Given the description of an element on the screen output the (x, y) to click on. 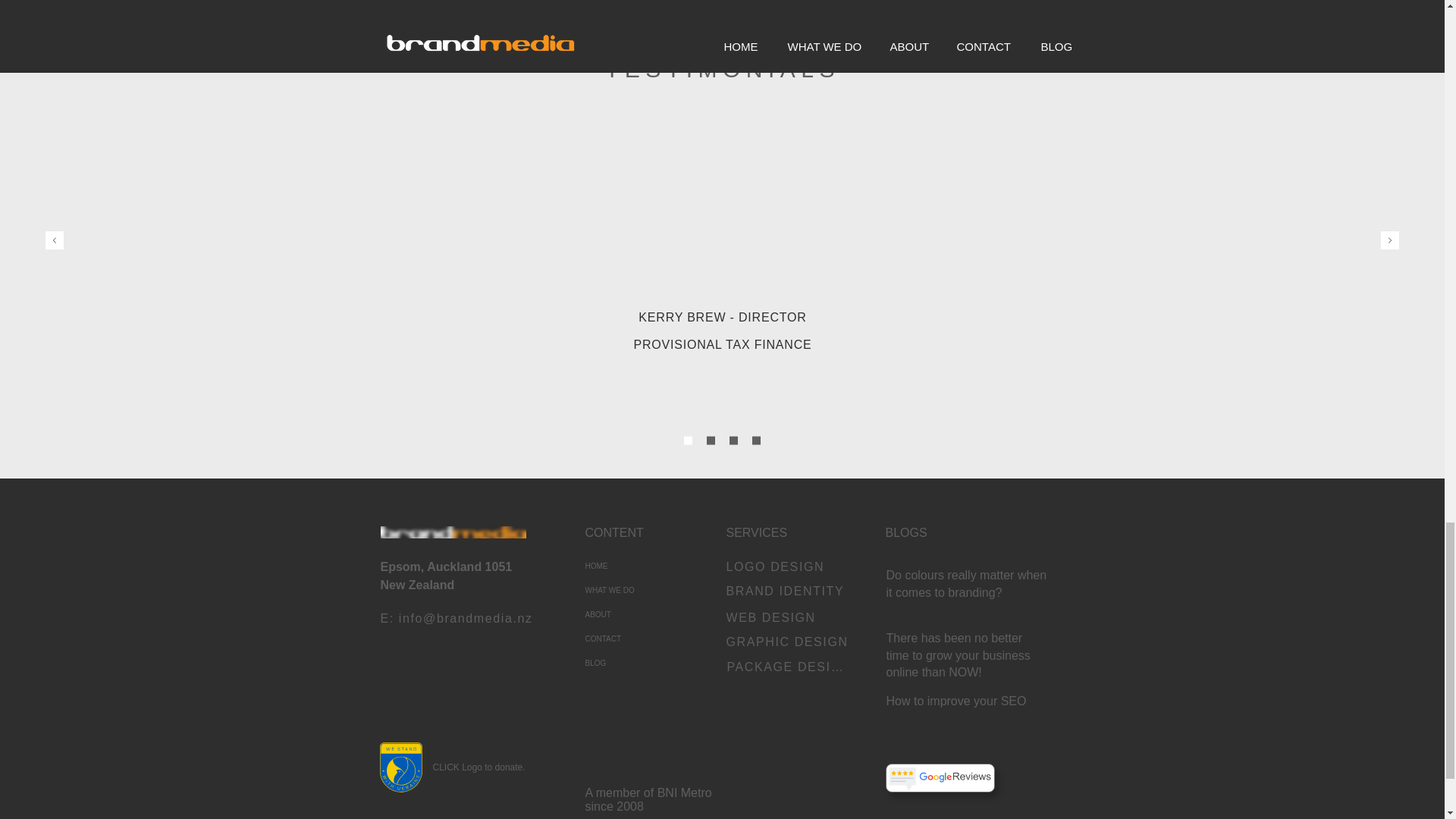
HOME (639, 566)
WHAT WE DO (639, 590)
ABOUT (639, 614)
